Given the description of an element on the screen output the (x, y) to click on. 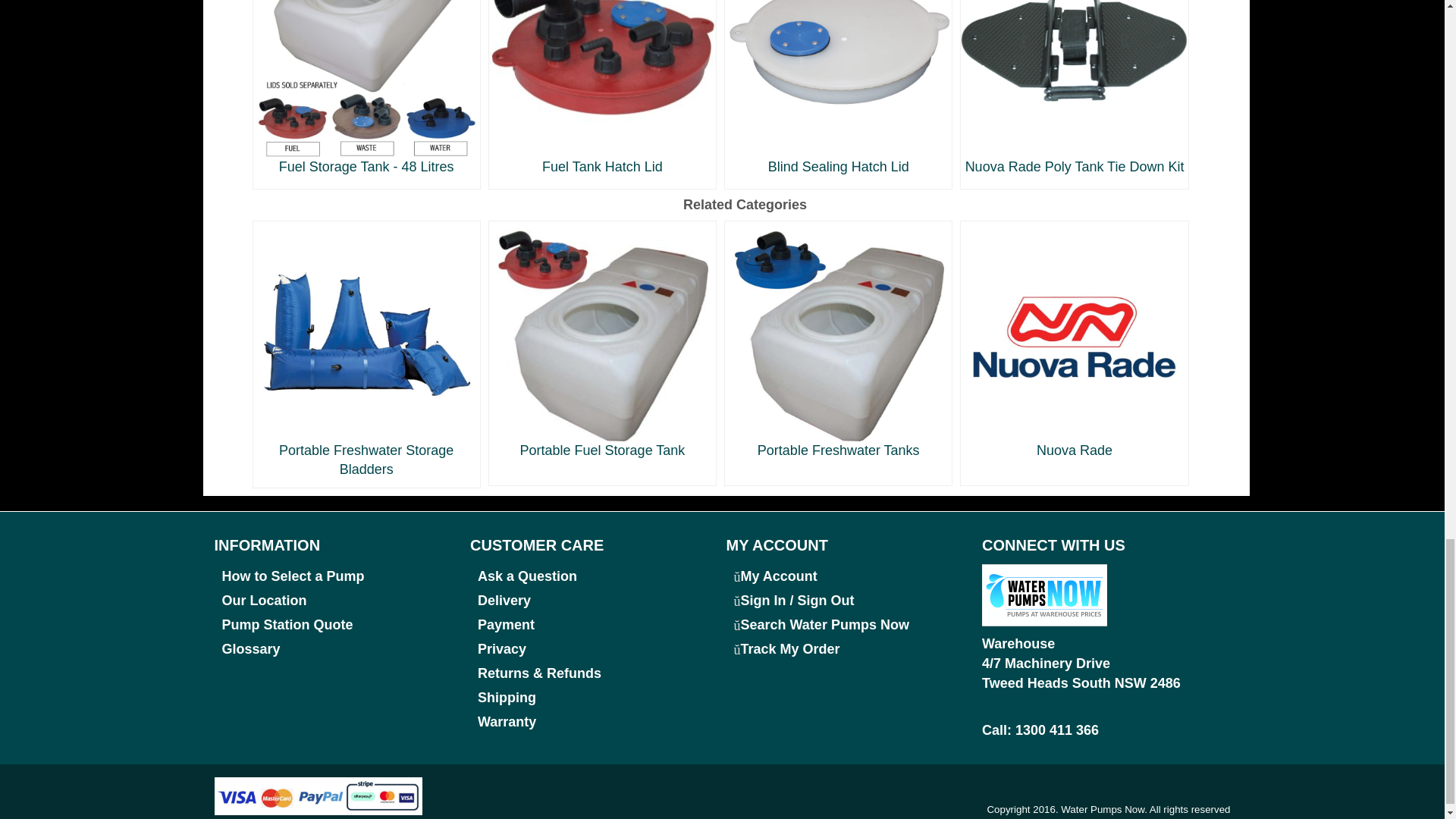
Portable Freshwater Storage Bladders (365, 352)
Portable Fuel Storage Tank (601, 343)
Nuova Rade Poly Tank Tie Down Kit (1074, 87)
Fuel Tank Hatch Lid (602, 87)
Portable Freshwater Tanks (837, 343)
Portable Fuel Storage Tank (601, 343)
Fuel Storage Tank - 48 Litres (366, 87)
Blind Sealing Hatch Lid (838, 87)
Nuova Rade Poly Tank Tie Down Kit (1074, 87)
Blind Sealing Hatch Lid (838, 87)
Nuova Rade (1073, 343)
Nuova Rade (1073, 343)
Fuel Storage Tank - 48 Litres (366, 87)
Portable Freshwater Storage Bladders (365, 352)
Fuel Tank Hatch Lid (602, 87)
